Given the description of an element on the screen output the (x, y) to click on. 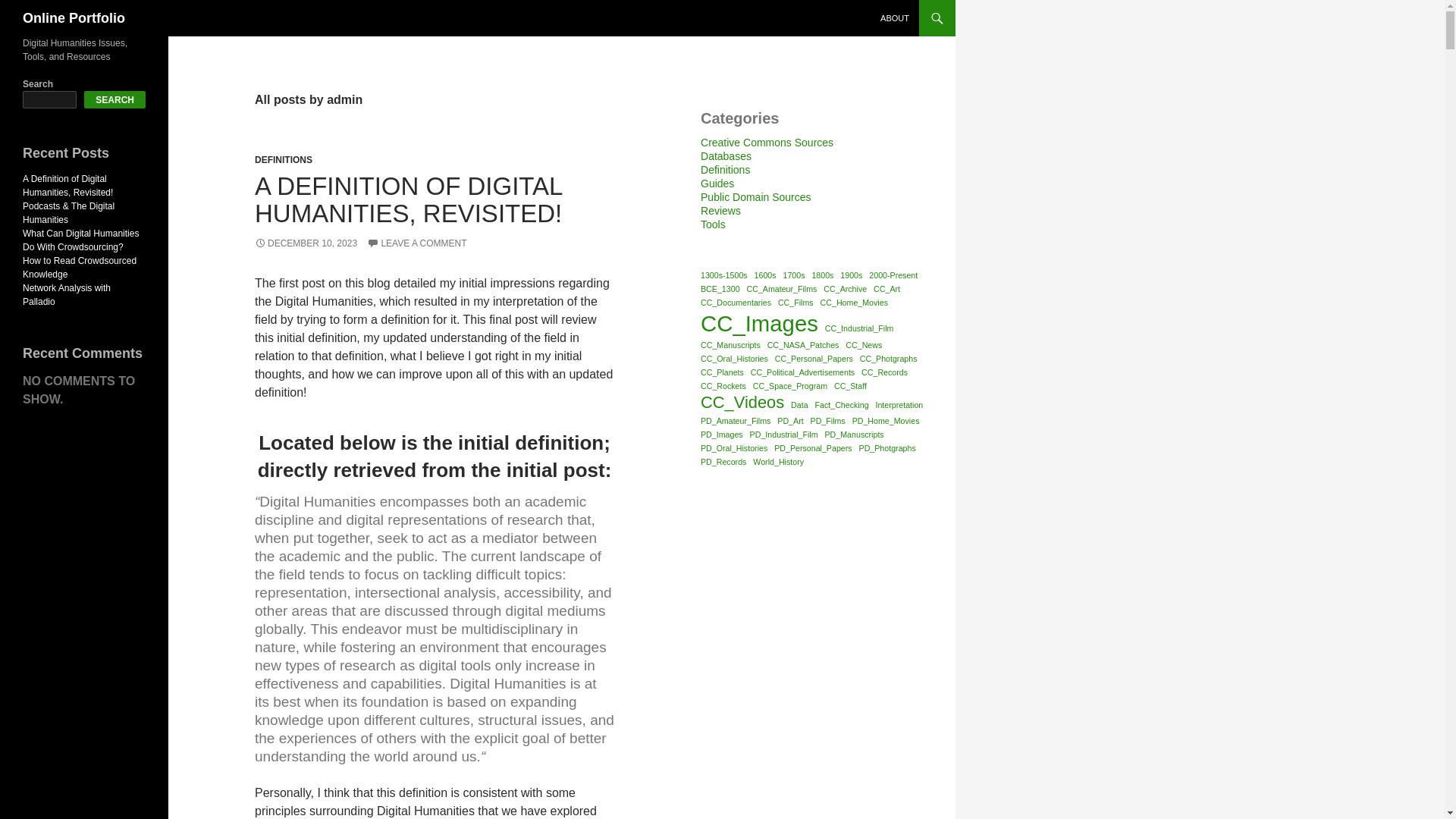
LEAVE A COMMENT (415, 243)
Online Portfolio (74, 18)
DECEMBER 10, 2023 (305, 243)
ABOUT (894, 18)
DEFINITIONS (283, 159)
A DEFINITION OF DIGITAL HUMANITIES, REVISITED! (408, 199)
